Given the description of an element on the screen output the (x, y) to click on. 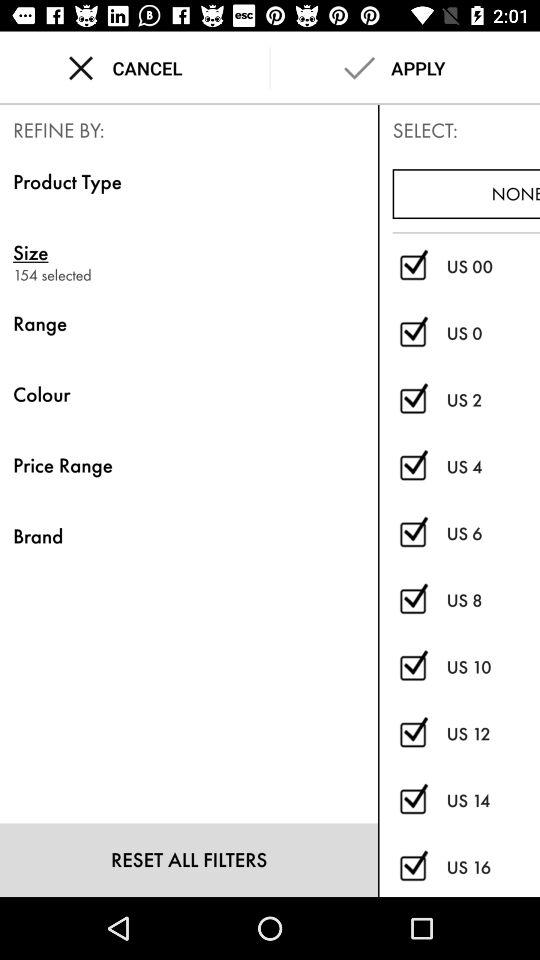
choose the icon below us 12 item (493, 800)
